Given the description of an element on the screen output the (x, y) to click on. 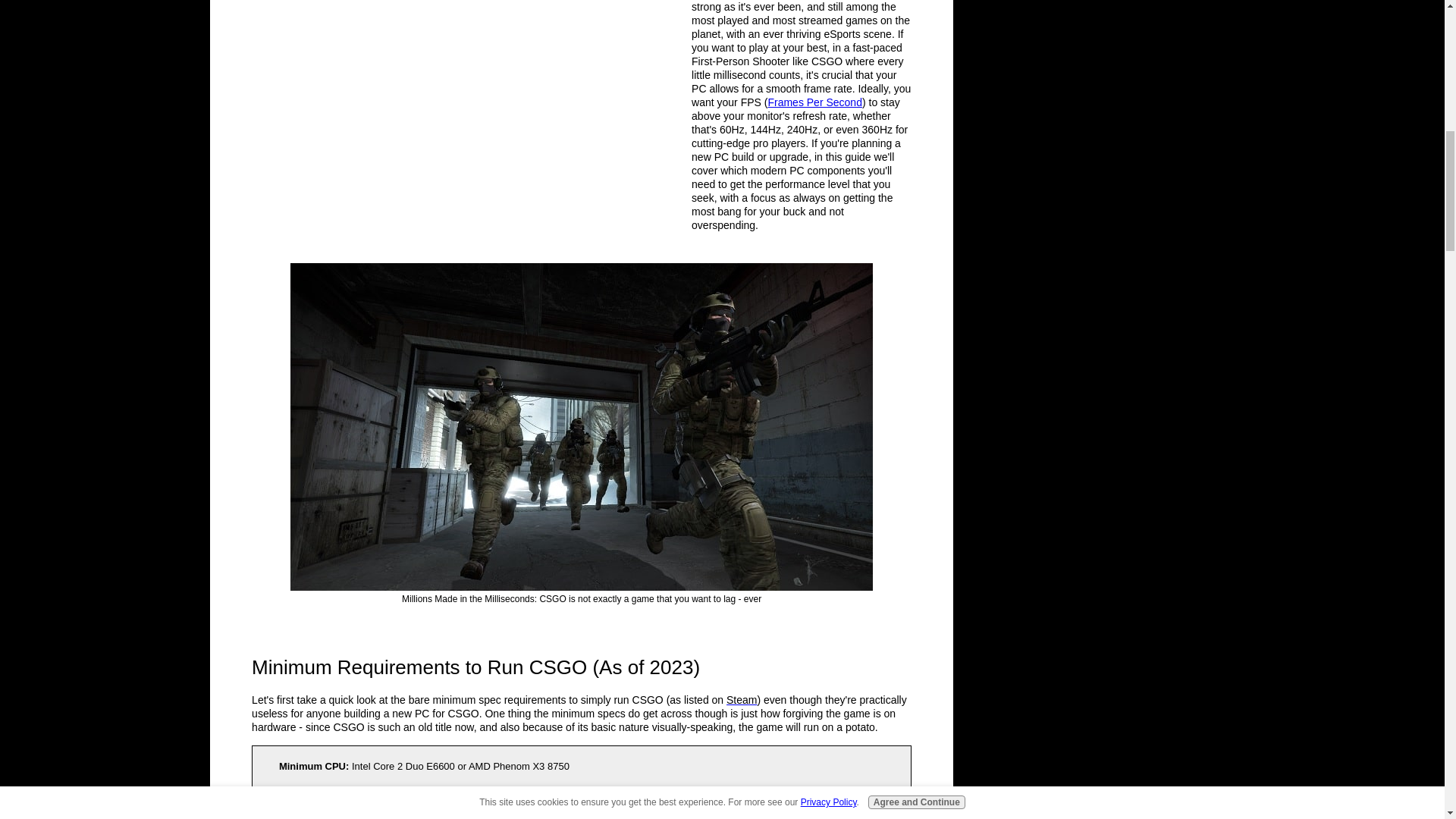
Advertisement (365, 62)
